Given the description of an element on the screen output the (x, y) to click on. 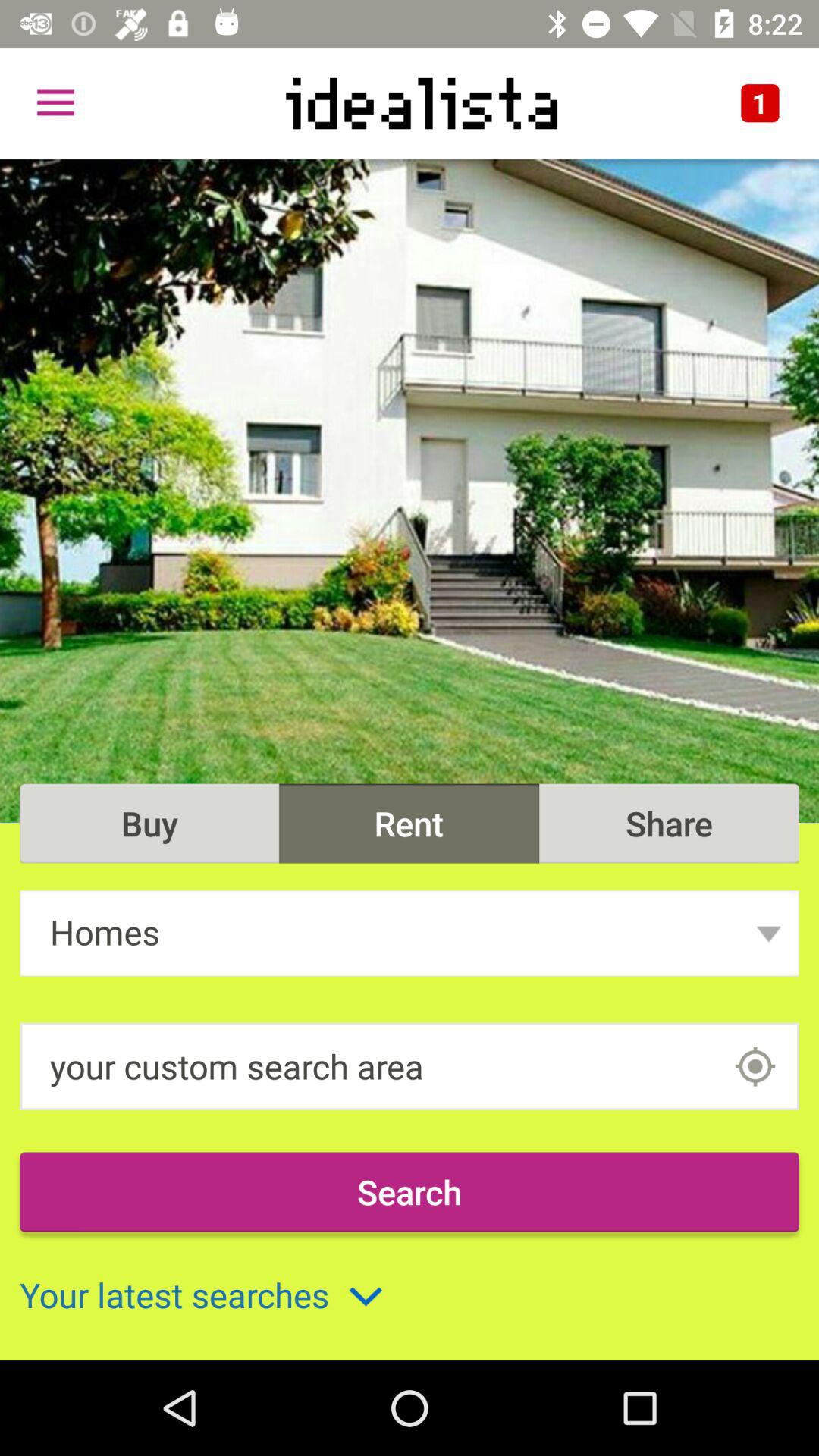
click to location icon (755, 1066)
